Given the description of an element on the screen output the (x, y) to click on. 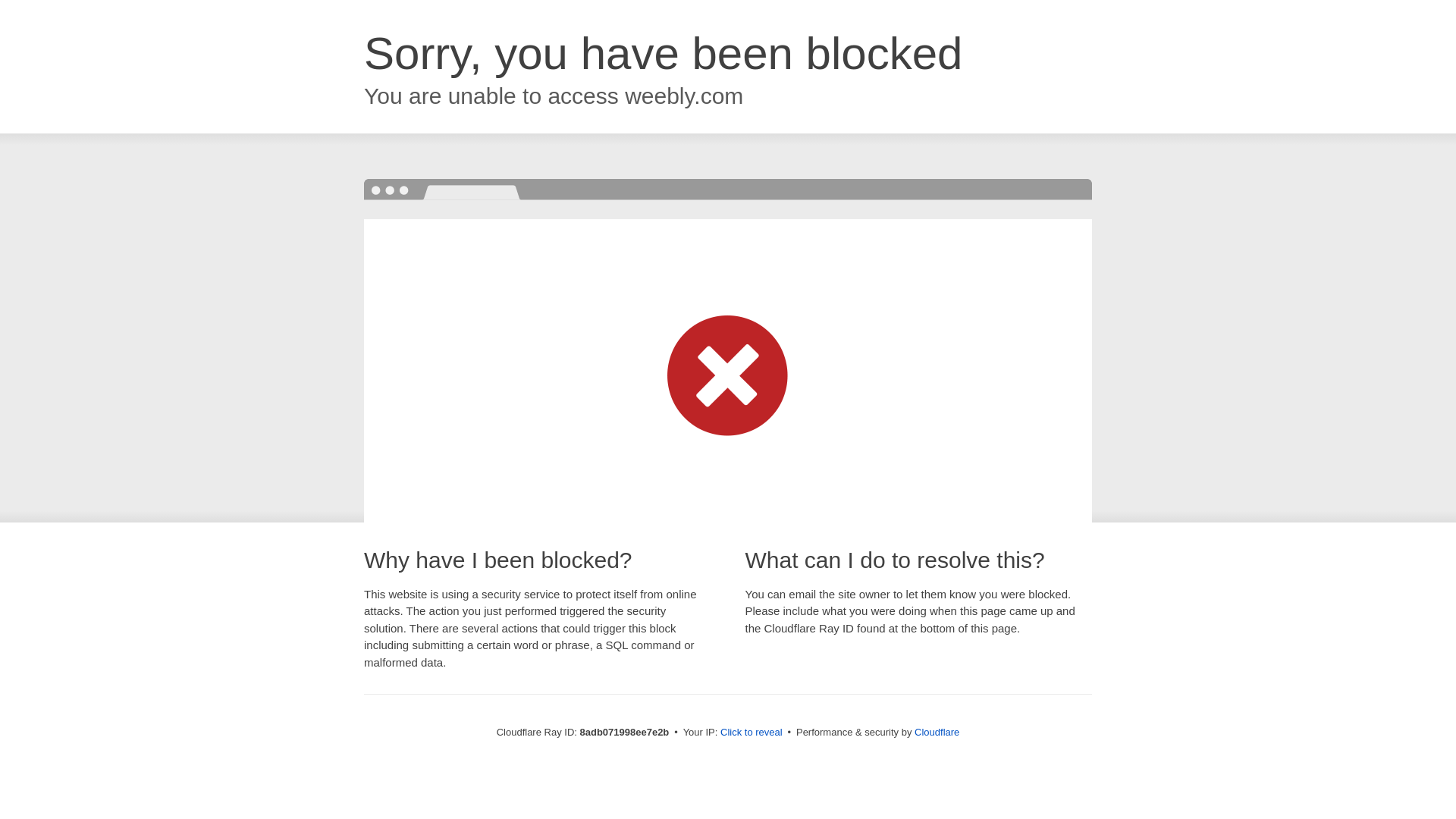
Cloudflare (936, 731)
Click to reveal (751, 732)
